Given the description of an element on the screen output the (x, y) to click on. 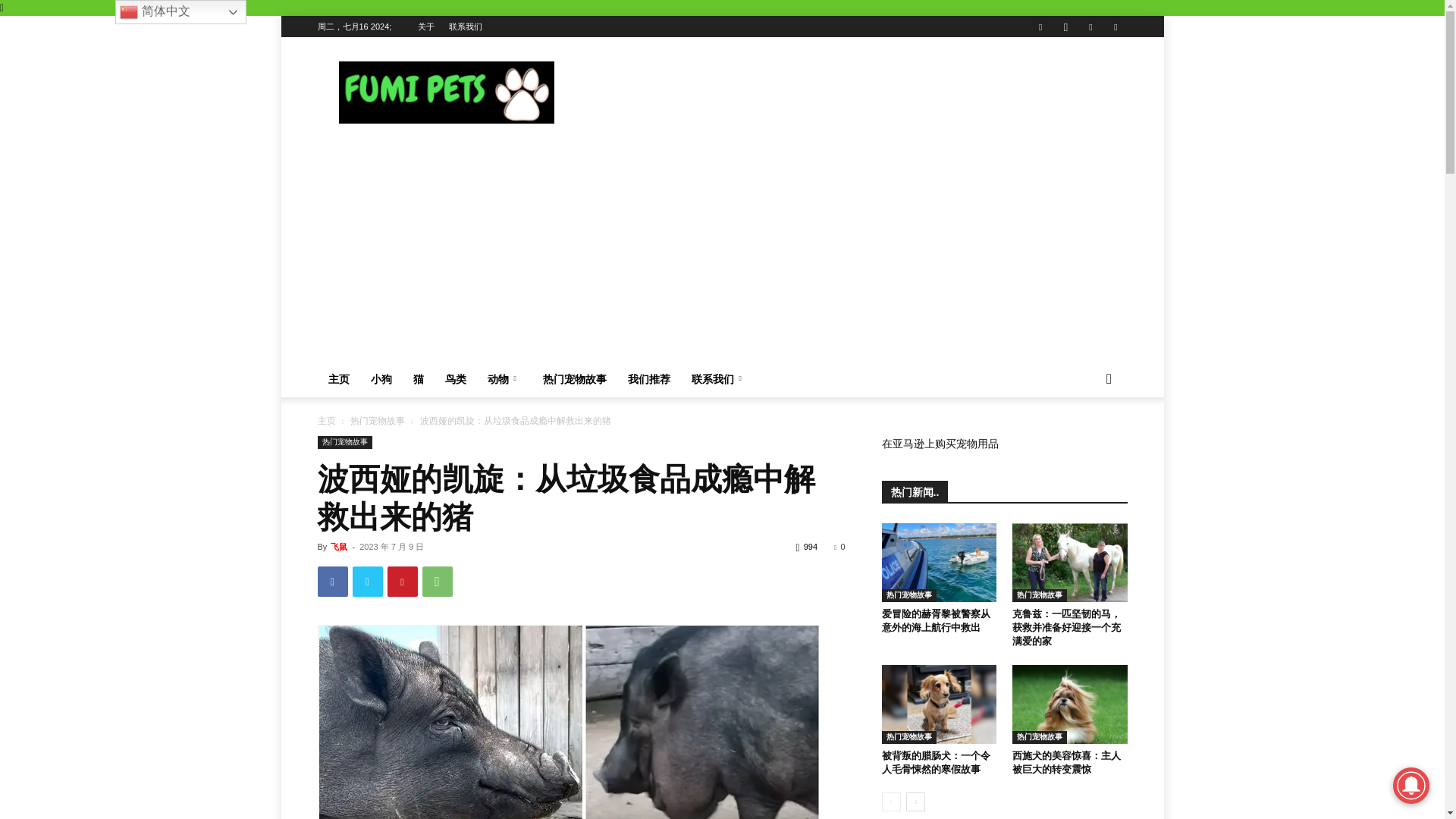
WhatsApp (436, 581)
Facebook (1040, 25)
Facebook (332, 581)
Twitter (1114, 25)
Twitter (366, 581)
Instagram (1065, 25)
Pinterest (401, 581)
Pinterest (1090, 25)
